Given the description of an element on the screen output the (x, y) to click on. 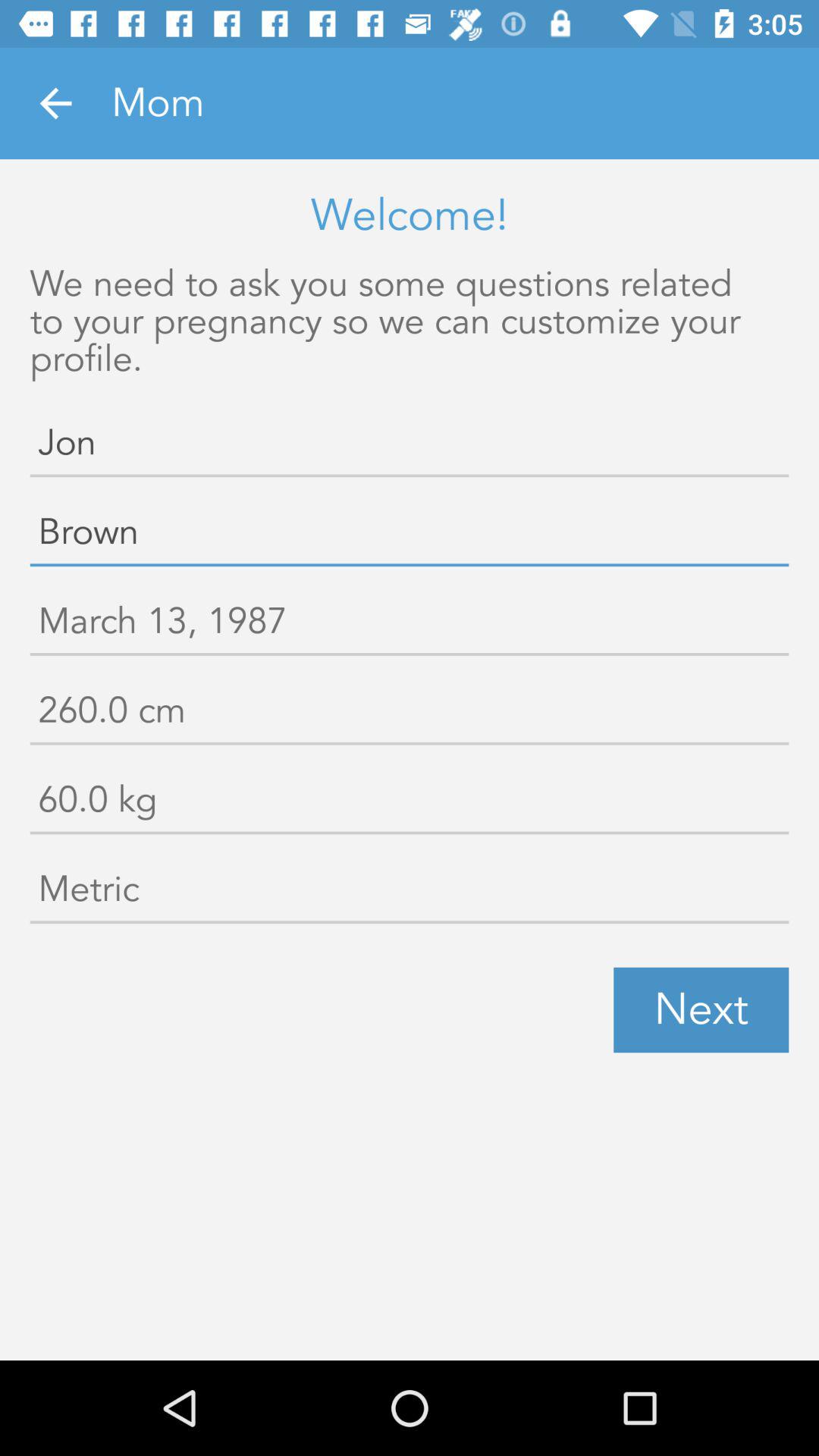
open the metric icon (409, 892)
